Given the description of an element on the screen output the (x, y) to click on. 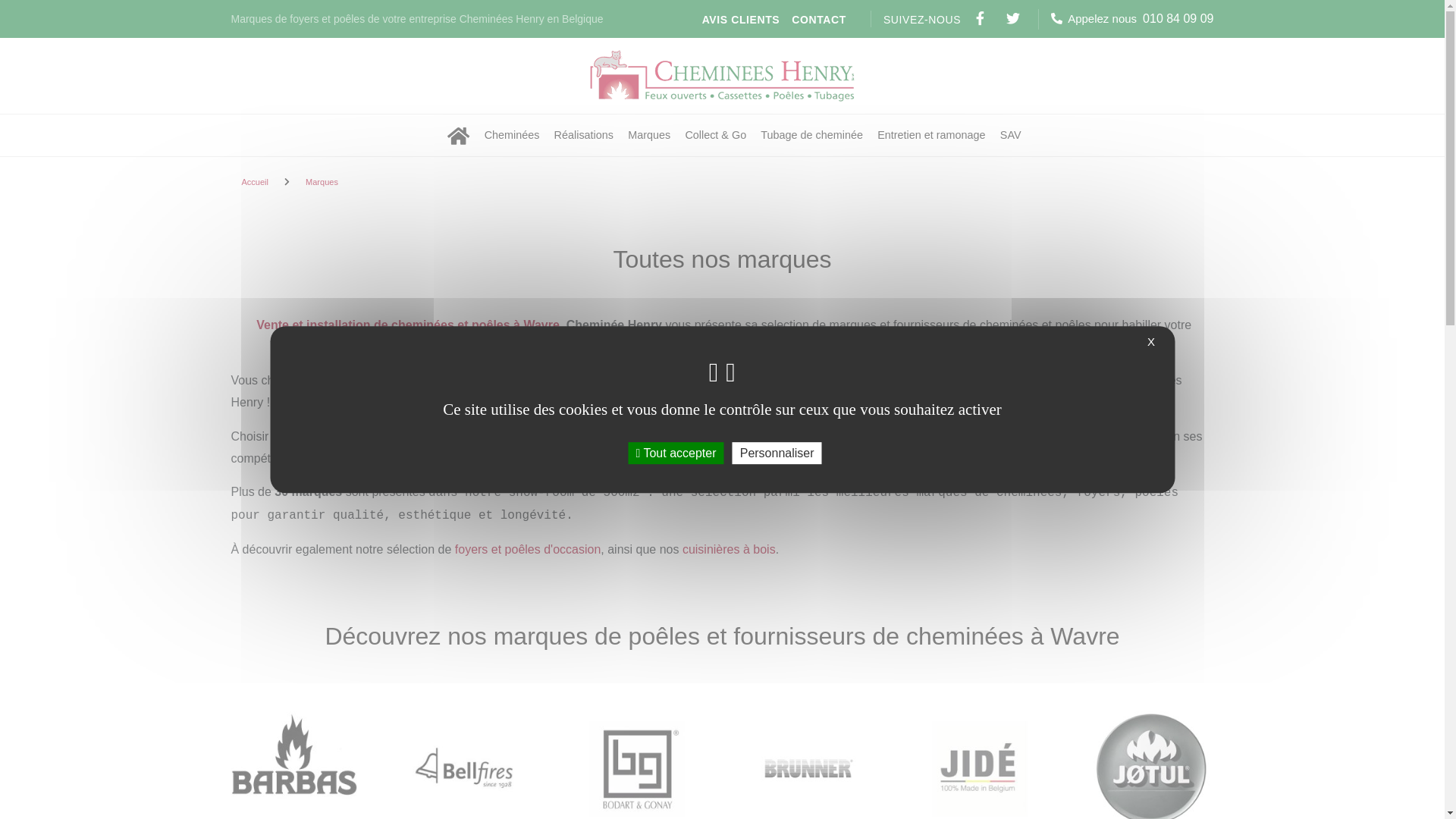
Collect & Go Element type: text (715, 135)
Personnaliser Element type: text (777, 453)
AVIS CLIENTS Element type: text (741, 18)
010 84 09 09 Element type: text (1177, 18)
Marques Element type: text (648, 135)
CONTACT Element type: text (818, 18)
Marques Element type: text (321, 181)
cassette Element type: text (781, 379)
Tout accepter Element type: text (675, 453)
foyer Element type: text (618, 379)
Accueil Element type: text (254, 181)
feu ouvert Element type: text (725, 379)
Entretien et ramonage Element type: text (931, 135)
SAV Element type: text (1010, 135)
